Given the description of an element on the screen output the (x, y) to click on. 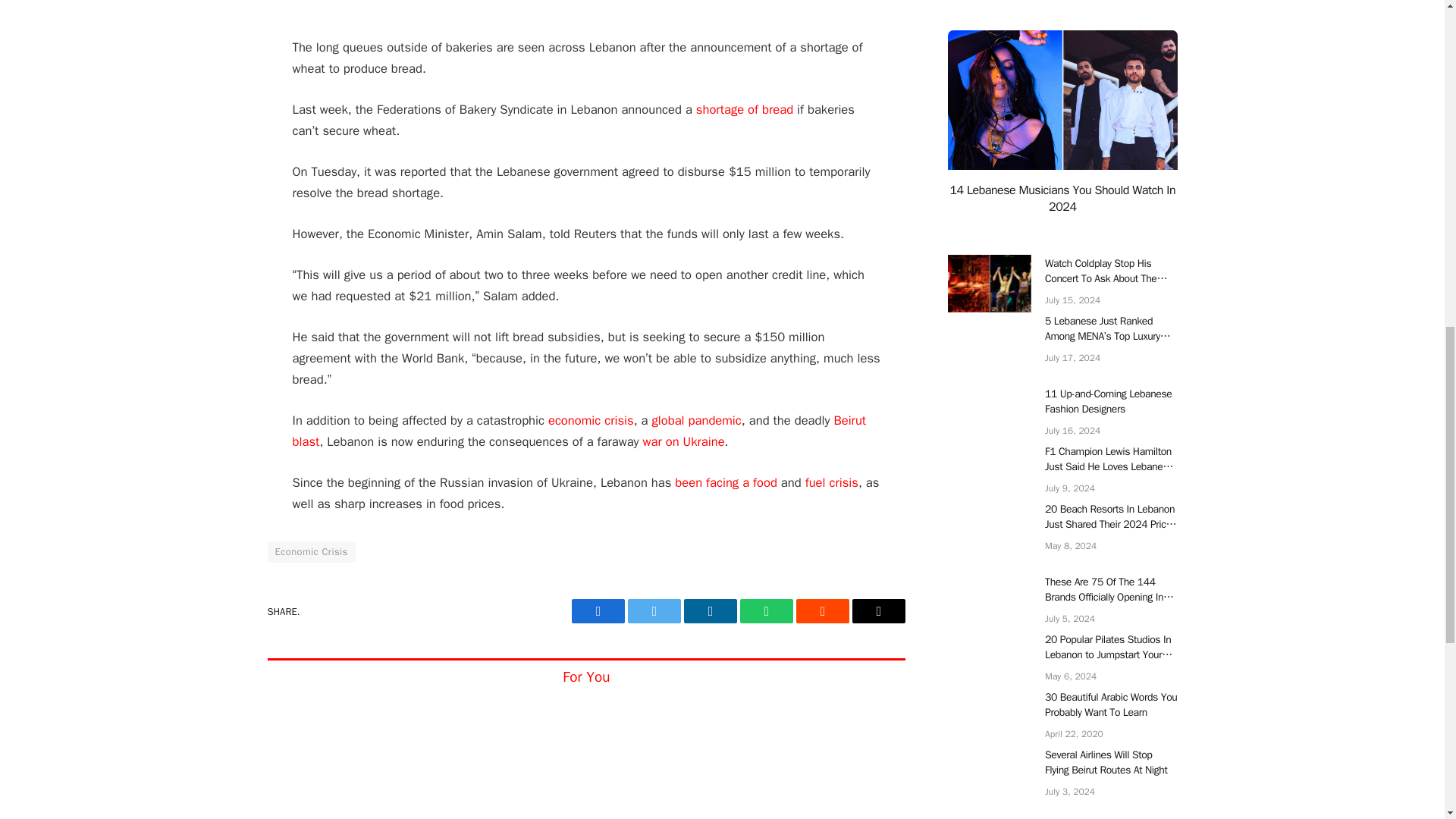
Share on WhatsApp (766, 610)
Share on LinkedIn (710, 610)
Beirut blast (579, 430)
Facebook (598, 610)
been facing a food (726, 482)
shortage of bread (744, 109)
global pandemic (696, 420)
fuel crisis (832, 482)
Economic Crisis (310, 551)
Twitter (654, 610)
Share on Facebook (598, 610)
Share on Reddit (822, 610)
economic crisis (590, 420)
war on Ukraine (684, 441)
Share via Email (878, 610)
